Given the description of an element on the screen output the (x, y) to click on. 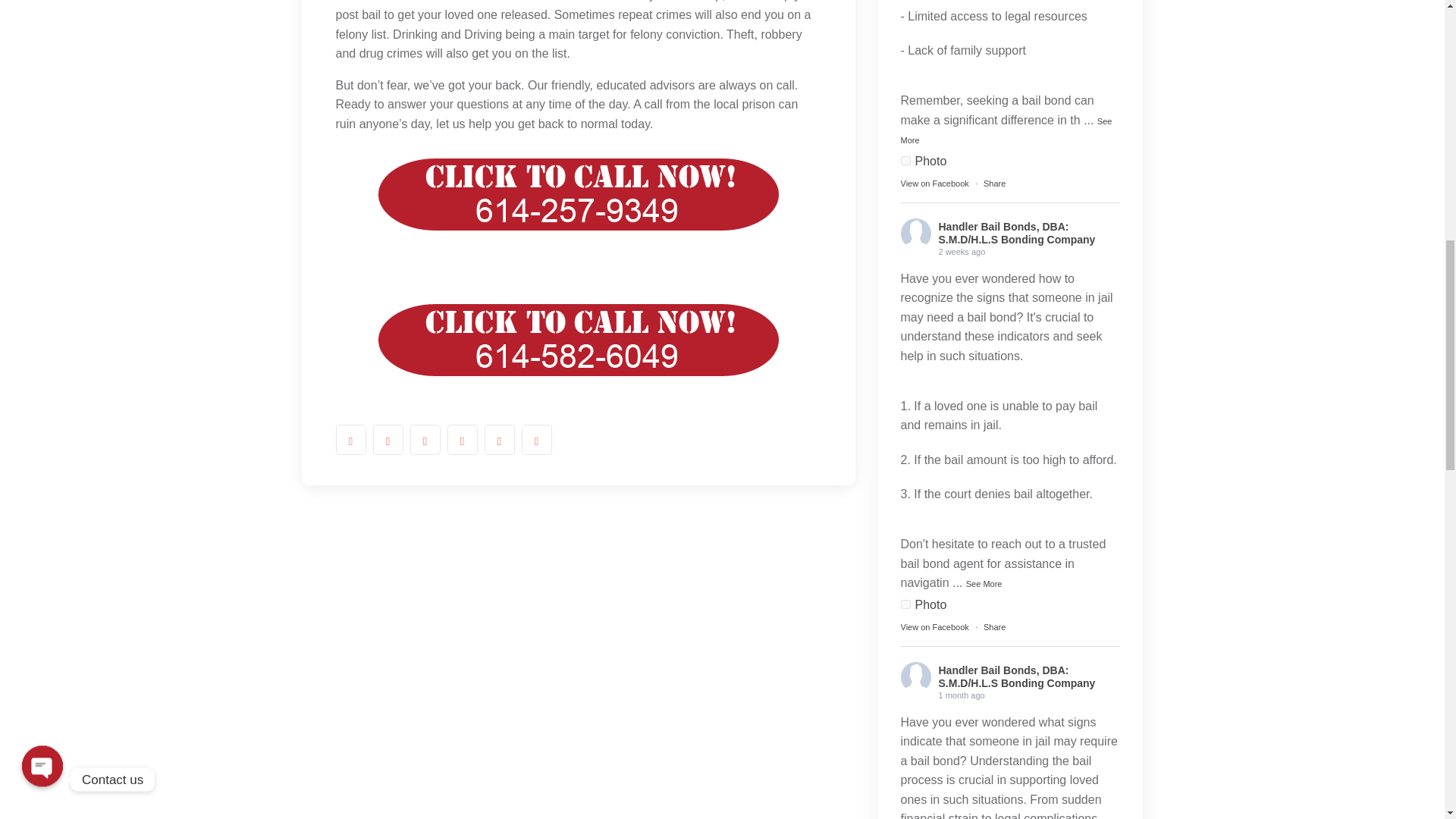
Share (995, 626)
View on Facebook (935, 183)
View on Facebook (935, 626)
Share (995, 183)
